Given the description of an element on the screen output the (x, y) to click on. 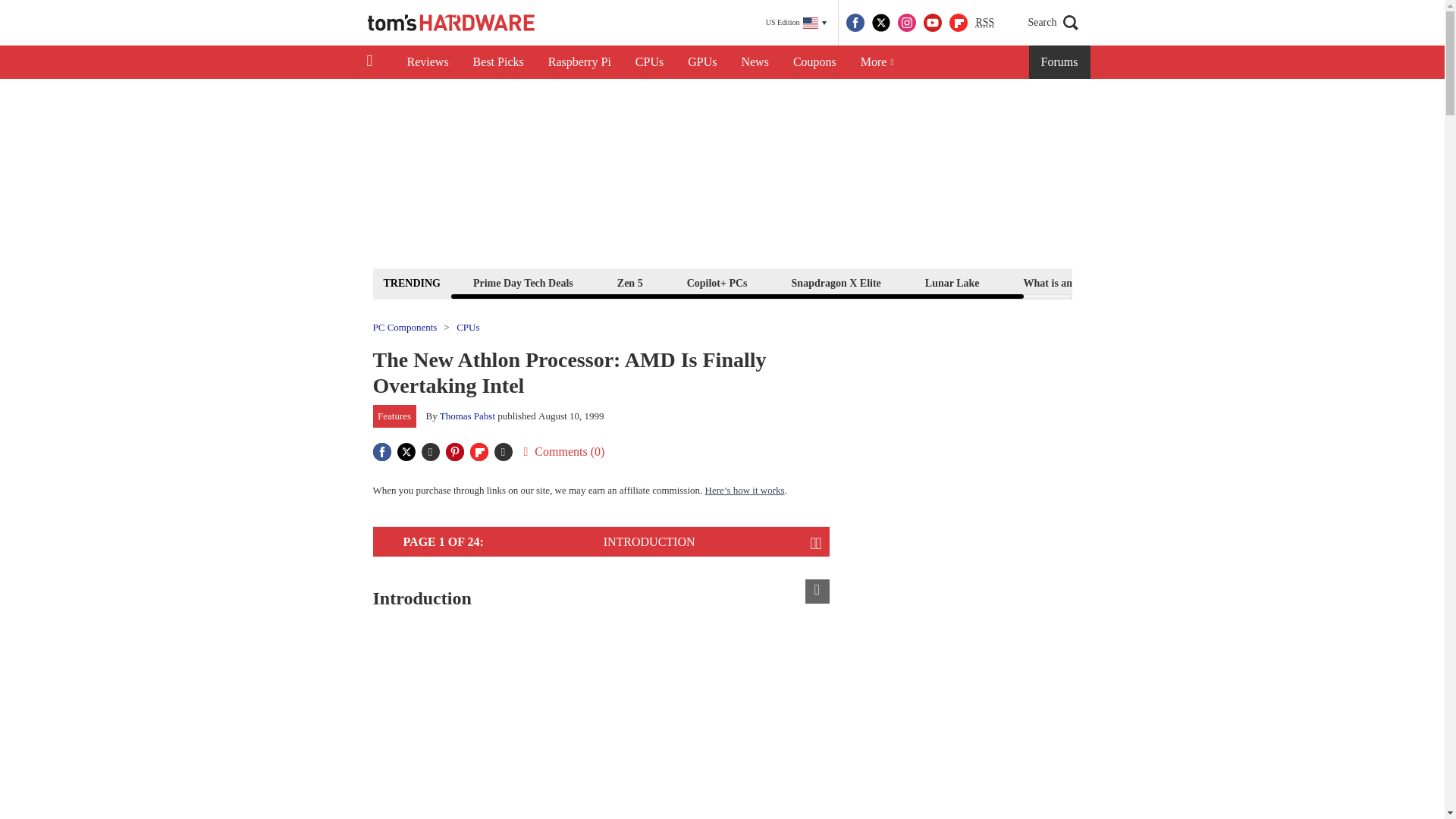
Prime Day Tech Deals (522, 282)
Raspberry Pi (579, 61)
Coupons (814, 61)
News (754, 61)
Best Picks (498, 61)
GPUs (702, 61)
Forums (1059, 61)
Reviews (427, 61)
Really Simple Syndication (984, 21)
US Edition (796, 22)
RSS (984, 22)
CPUs (649, 61)
